Given the description of an element on the screen output the (x, y) to click on. 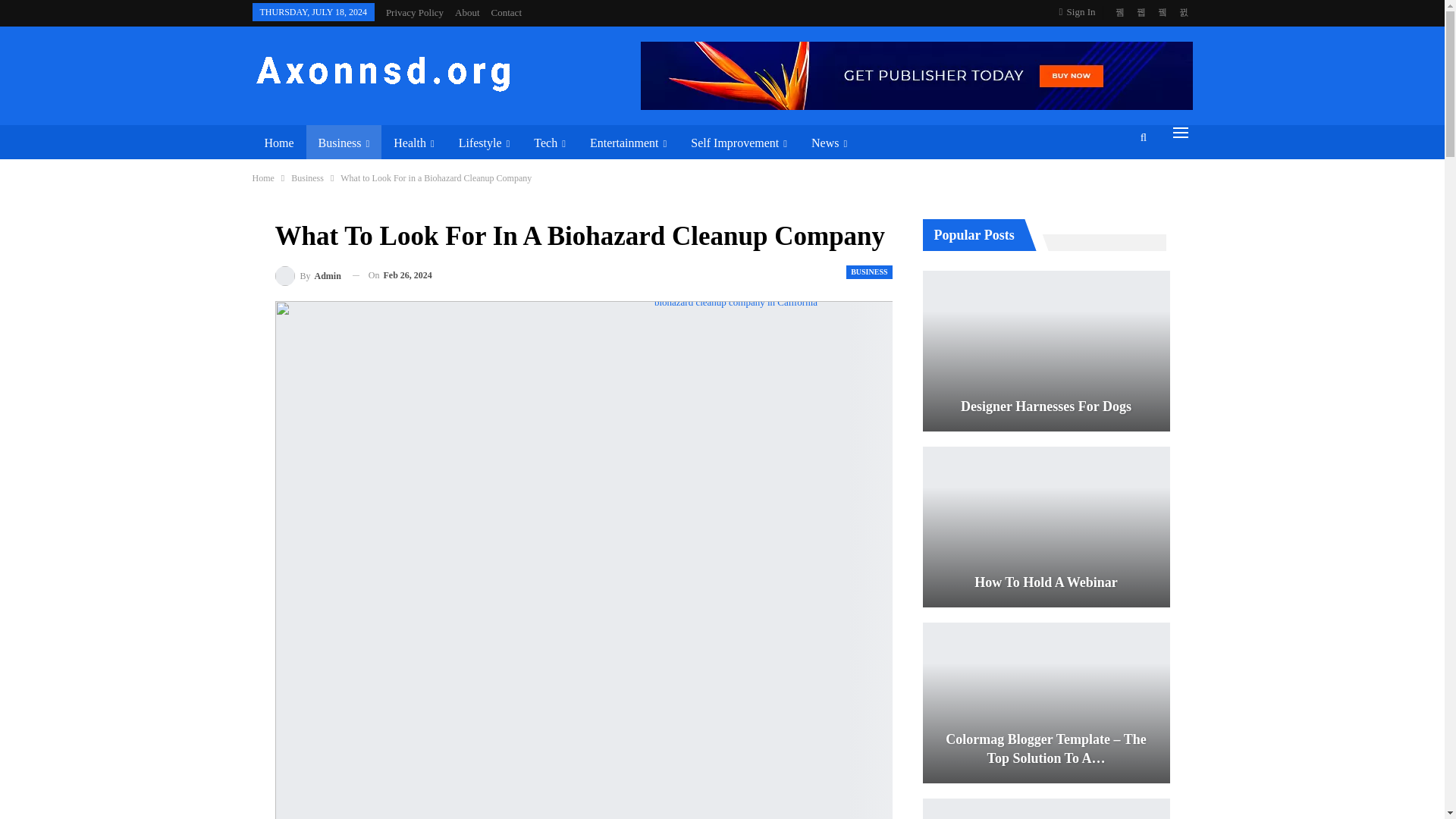
Business (343, 143)
Privacy Policy (414, 12)
Home (278, 143)
Tech (549, 143)
Lifestyle (484, 143)
Browse Author Articles (307, 275)
Sign In (1080, 12)
About (467, 12)
Health (413, 143)
Contact (506, 12)
